Given the description of an element on the screen output the (x, y) to click on. 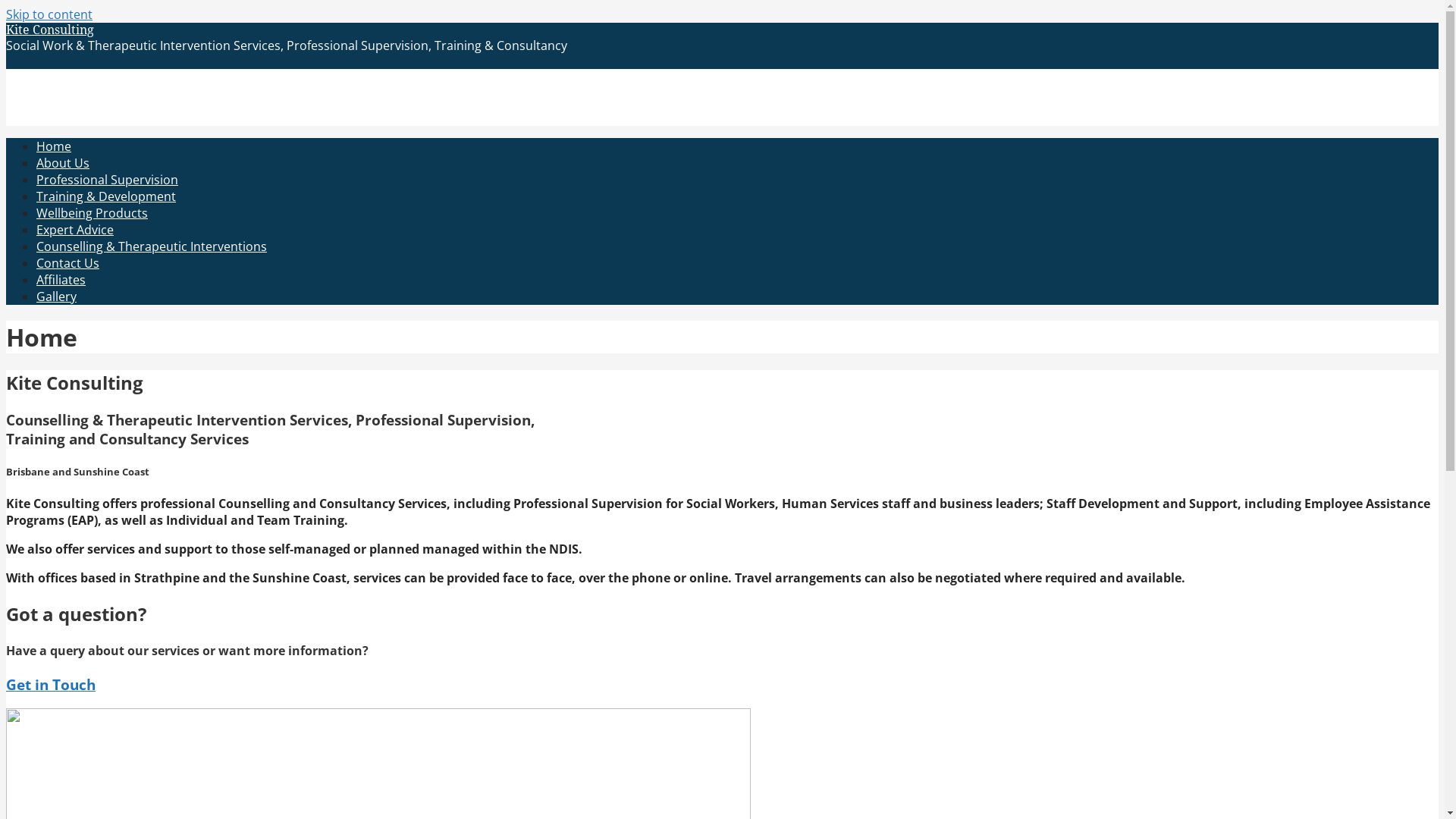
Professional Supervision Element type: text (107, 179)
Kite Consulting Element type: text (50, 29)
Home Element type: text (53, 146)
Affiliates Element type: text (60, 279)
Get in Touch Element type: text (50, 683)
Training & Development Element type: text (105, 196)
Counselling & Therapeutic Interventions Element type: text (151, 246)
About Us Element type: text (62, 162)
Expert Advice Element type: text (74, 229)
Gallery Element type: text (56, 296)
Contact Us Element type: text (67, 262)
Wellbeing Products Element type: text (91, 212)
Skip to content Element type: text (49, 14)
